Given the description of an element on the screen output the (x, y) to click on. 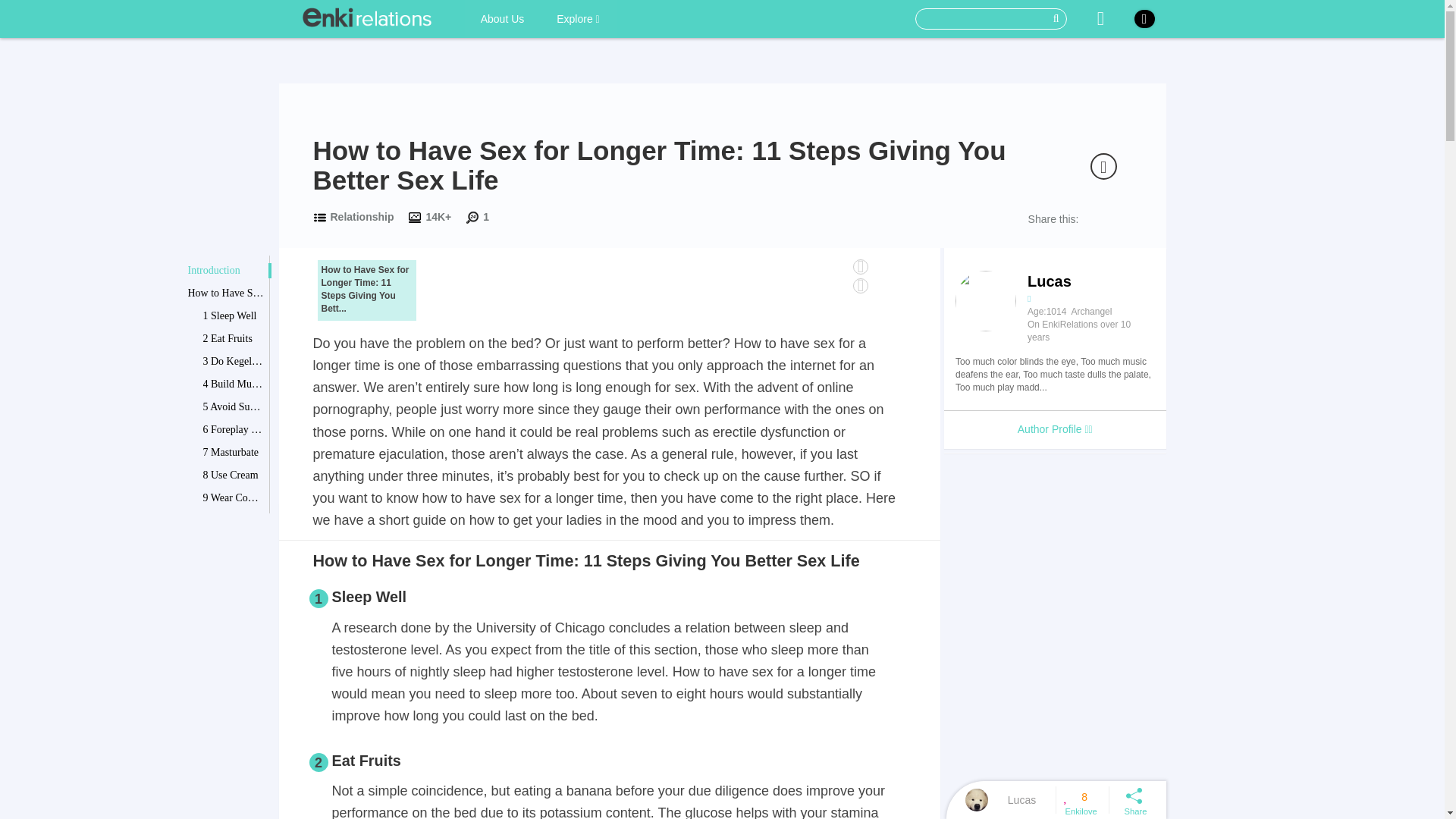
8 Use Cream (233, 475)
11 Change Your Mindset (233, 543)
4 Build Muscles (233, 384)
How to Have Sex for Longer Time: 11 Steps Giving You Bett... (365, 290)
Lucas (1008, 800)
9 Wear Condom and Lubricate Well (233, 498)
3 Do Kegel Exercises (233, 361)
Explore (577, 18)
5 Avoid Substances That Make You Ejaculate Early (233, 406)
2 Eat Fruits (233, 338)
Introduction (225, 270)
Relationship (362, 216)
1 Sleep Well (233, 315)
